Given the description of an element on the screen output the (x, y) to click on. 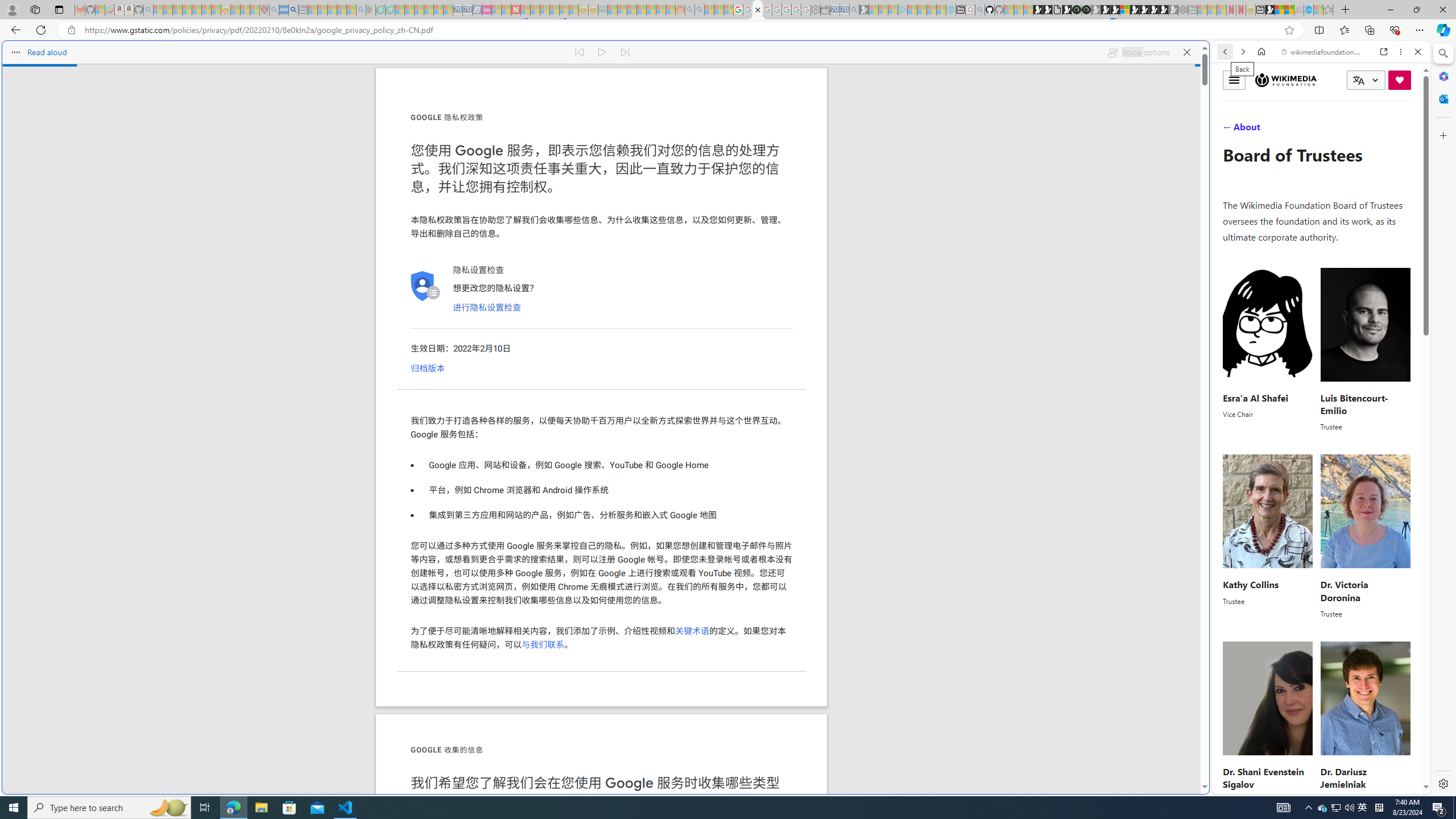
Read previous paragraph (579, 52)
Wiktionary (1315, 380)
Esra'a Al ShafeiVice Chair (1268, 349)
Close split screen (1208, 57)
Dr. Victoria Doronina (1343, 591)
